Given the description of an element on the screen output the (x, y) to click on. 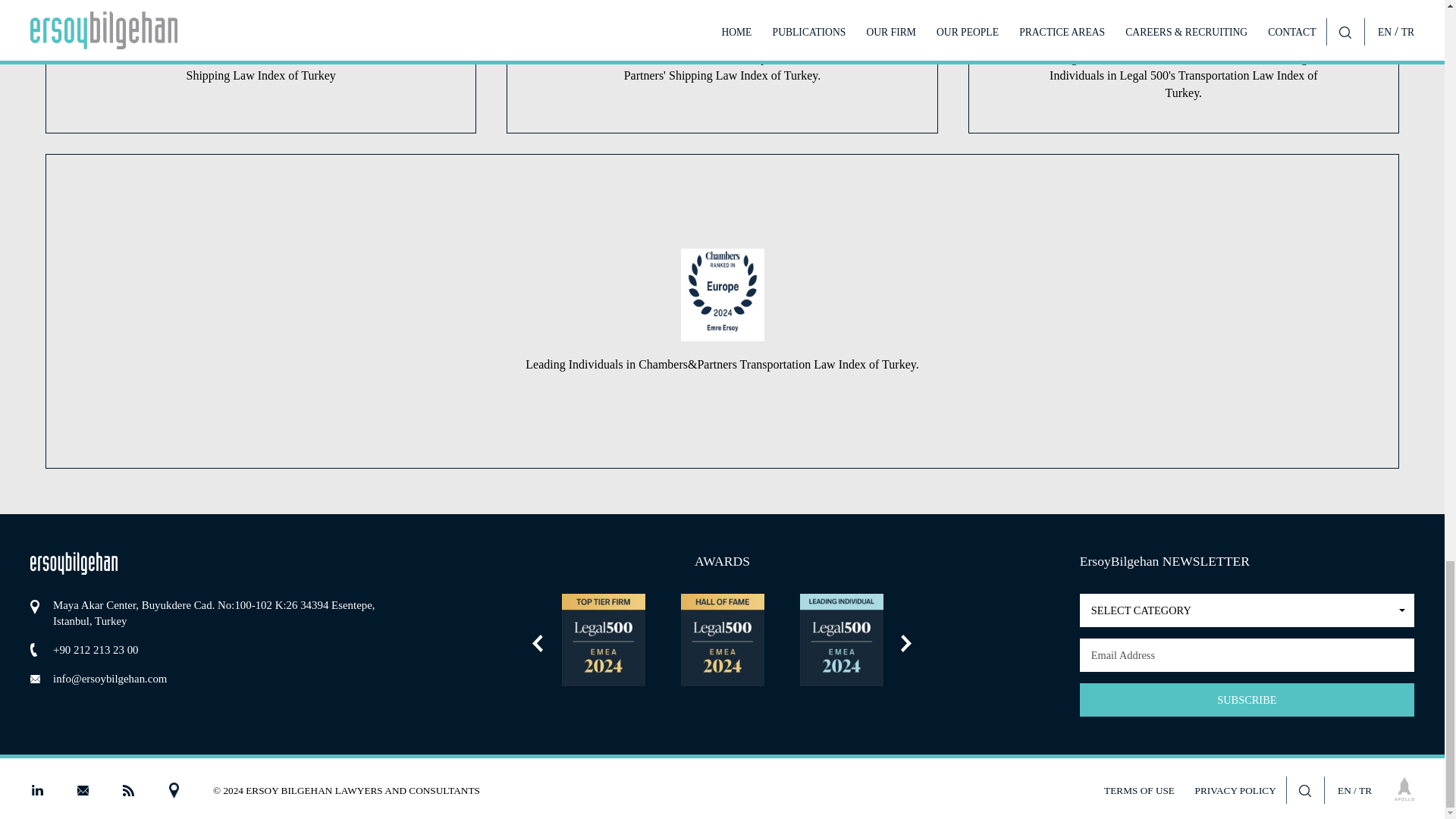
SELECT CATEGORY (1246, 610)
Next (906, 642)
Previous (1246, 610)
